Given the description of an element on the screen output the (x, y) to click on. 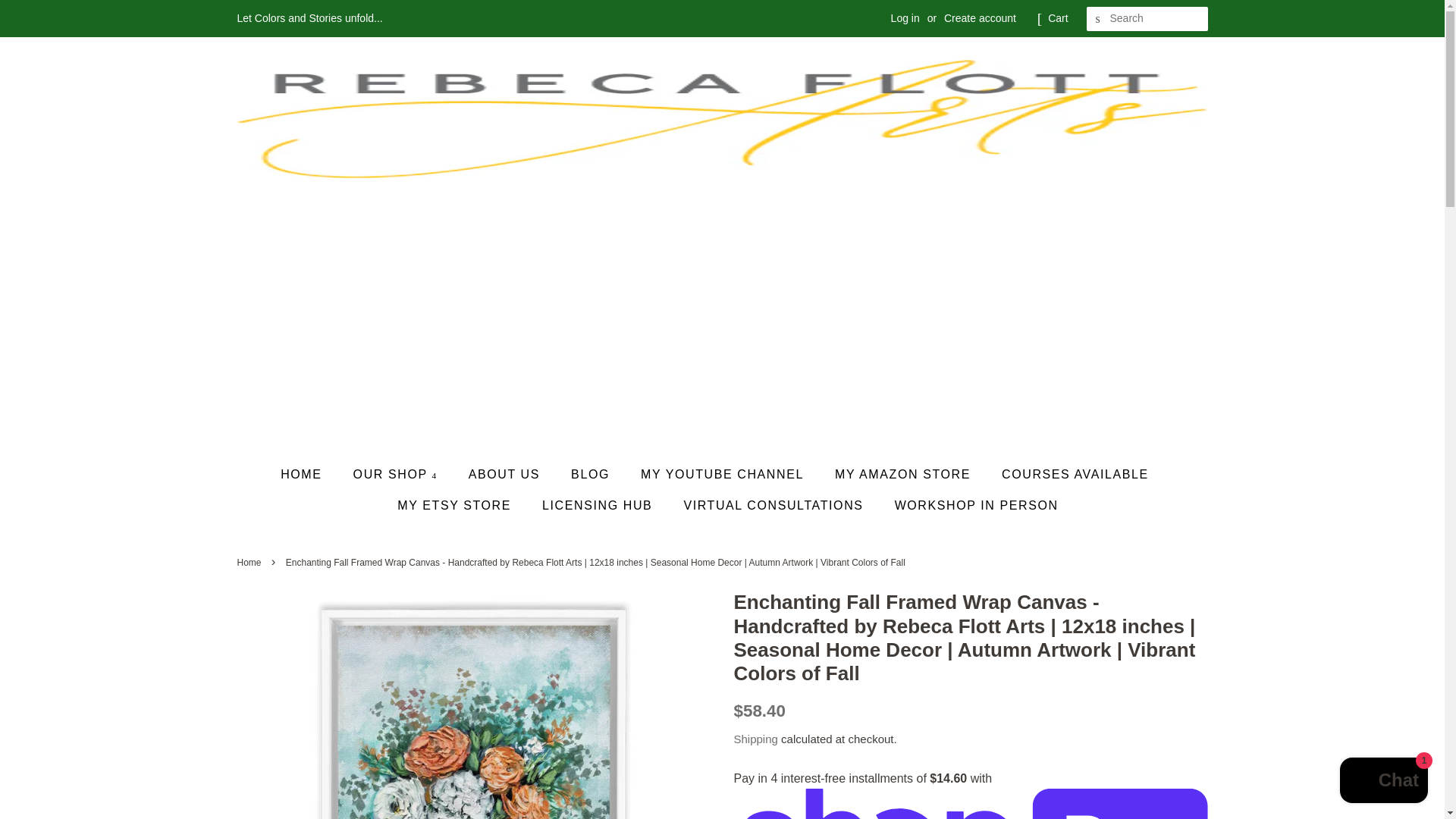
SEARCH (1097, 18)
Log in (905, 18)
OUR SHOP (397, 473)
Cart (1057, 18)
Shopify online store chat (1383, 781)
ABOUT US (505, 473)
Create account (979, 18)
Back to the frontpage (249, 562)
HOME (308, 473)
